Given the description of an element on the screen output the (x, y) to click on. 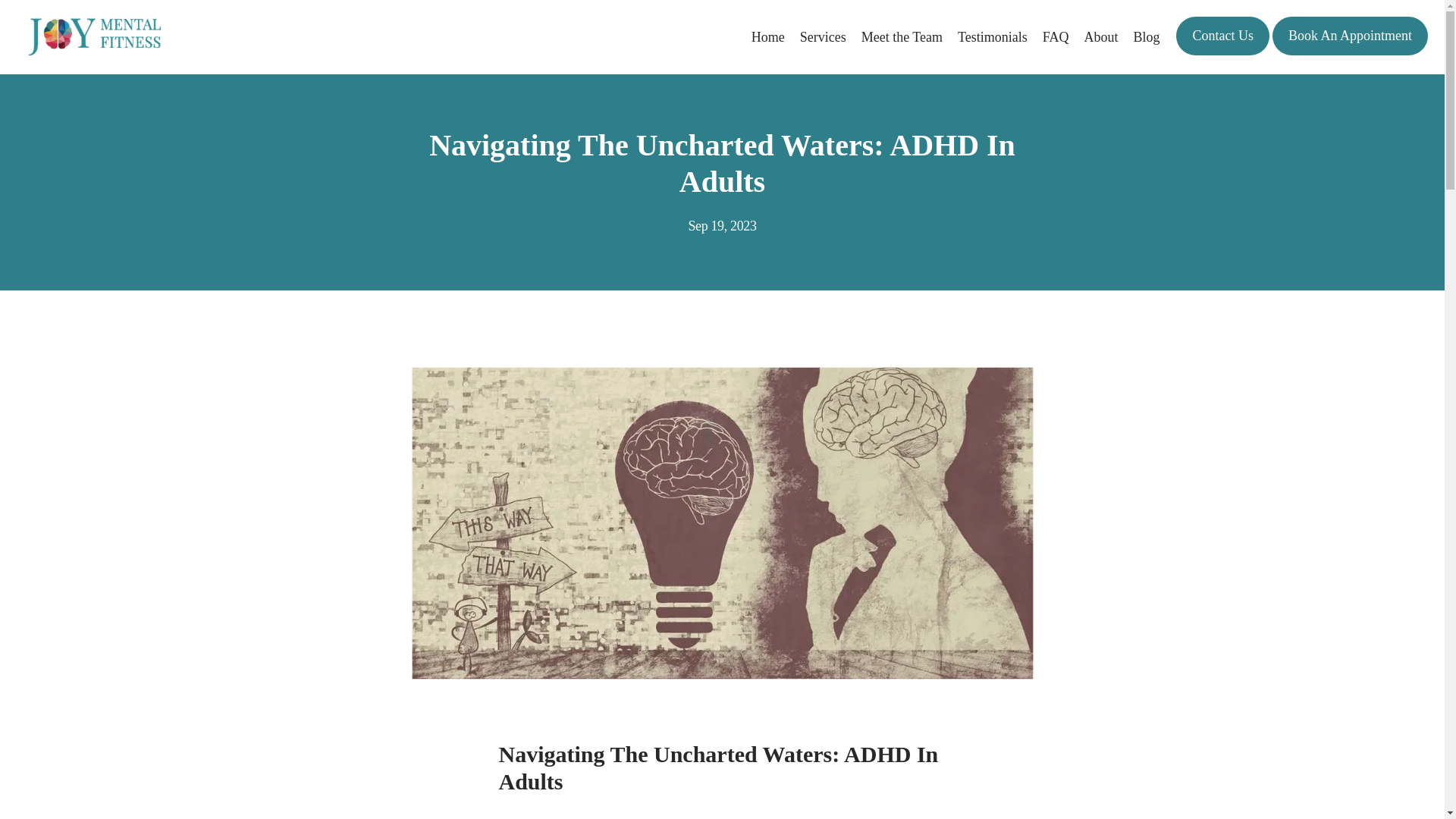
Meet the Team (901, 37)
Home (767, 37)
Services (822, 37)
